Given the description of an element on the screen output the (x, y) to click on. 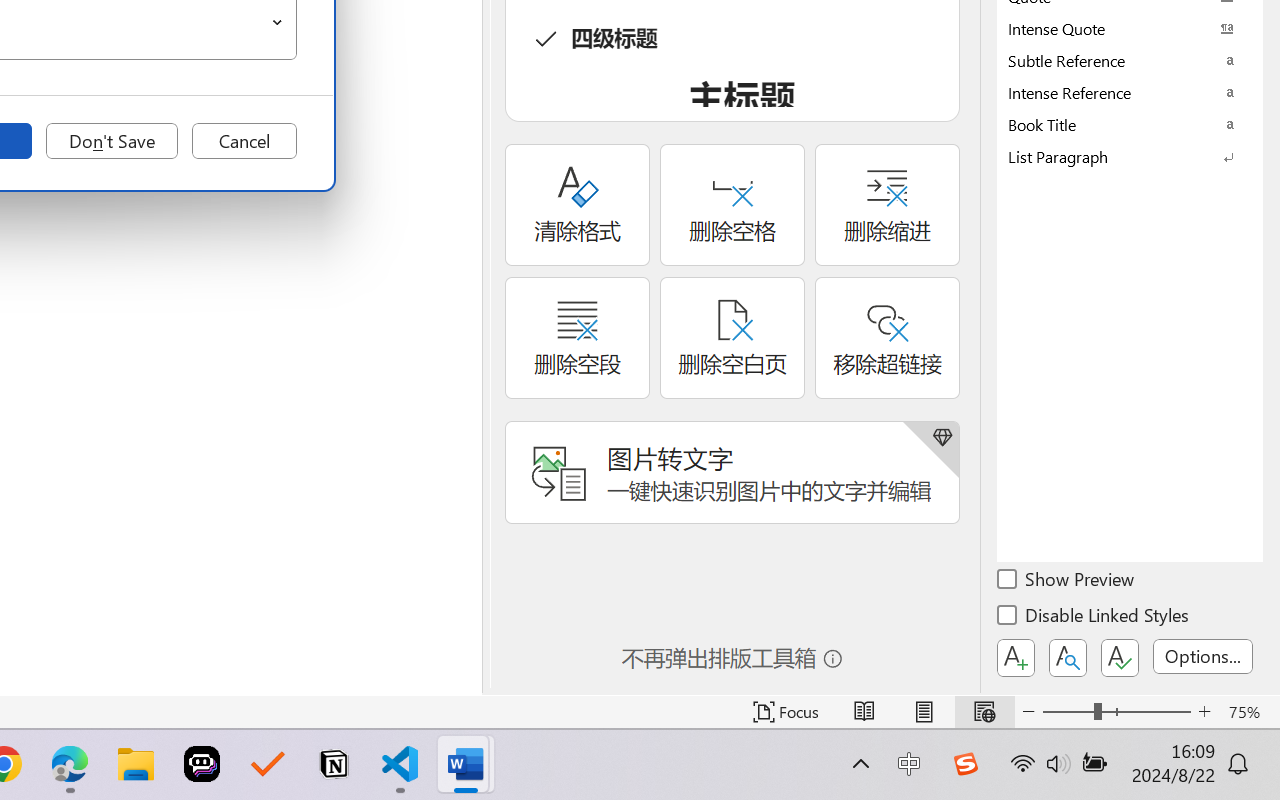
Print Layout (924, 712)
Subtle Reference (1130, 60)
Intense Reference (1130, 92)
Web Layout (984, 712)
